Given the description of an element on the screen output the (x, y) to click on. 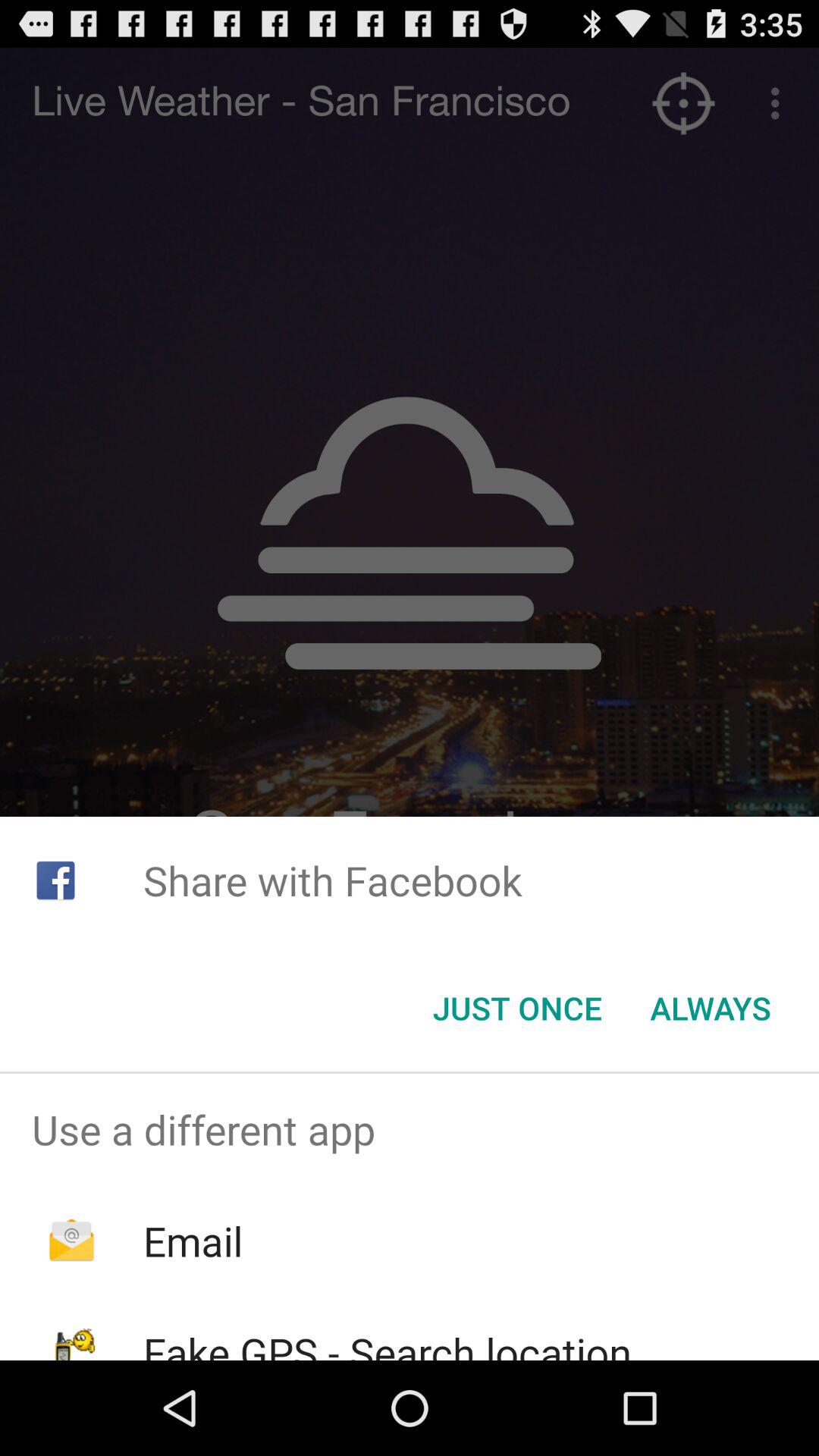
click the just once item (517, 1007)
